Given the description of an element on the screen output the (x, y) to click on. 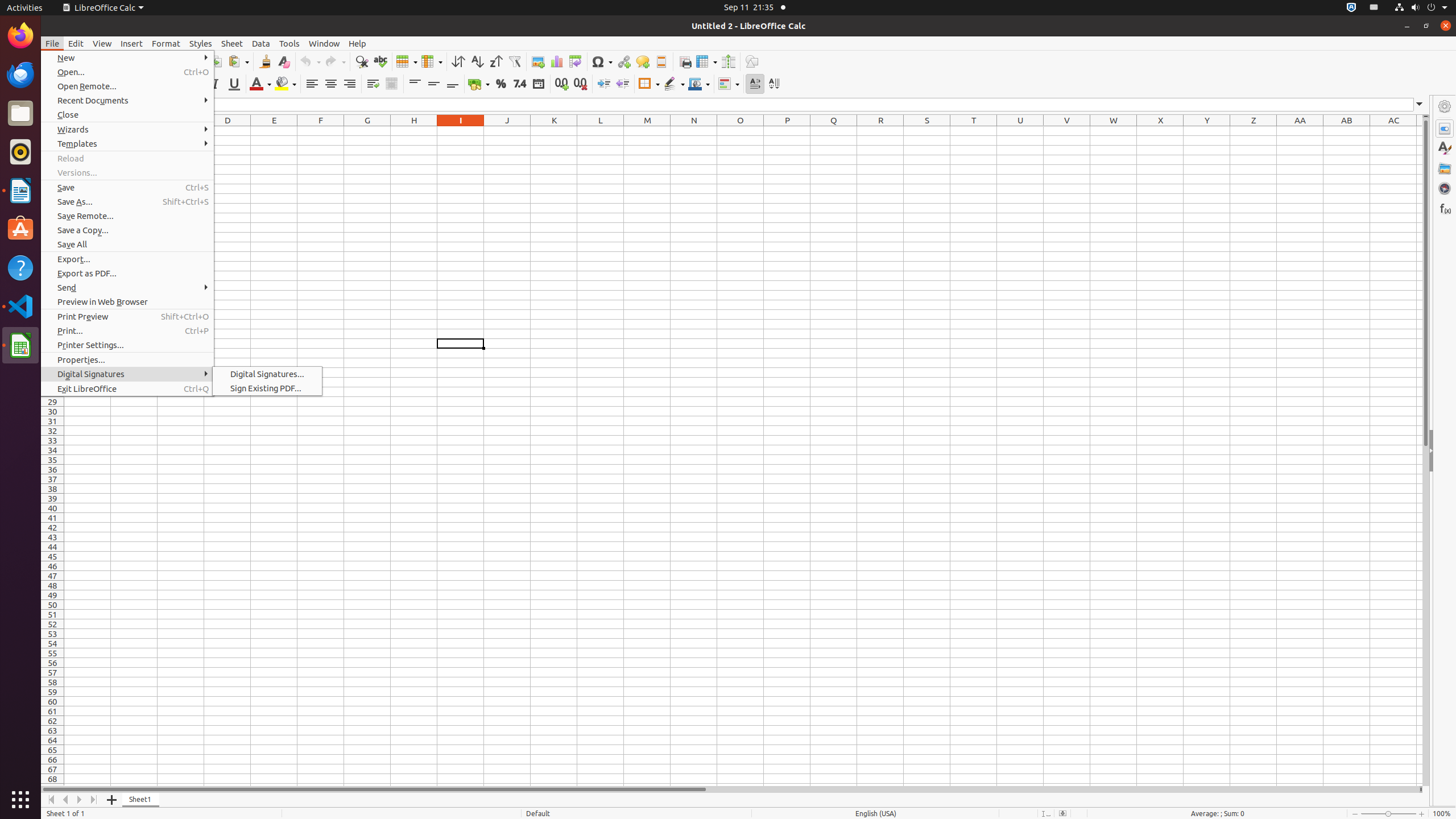
P1 Element type: table-cell (786, 130)
H1 Element type: table-cell (413, 130)
Column Element type: push-button (431, 61)
Add Decimal Place Element type: push-button (561, 83)
Horizontal scroll bar Element type: scroll-bar (729, 789)
